Given the description of an element on the screen output the (x, y) to click on. 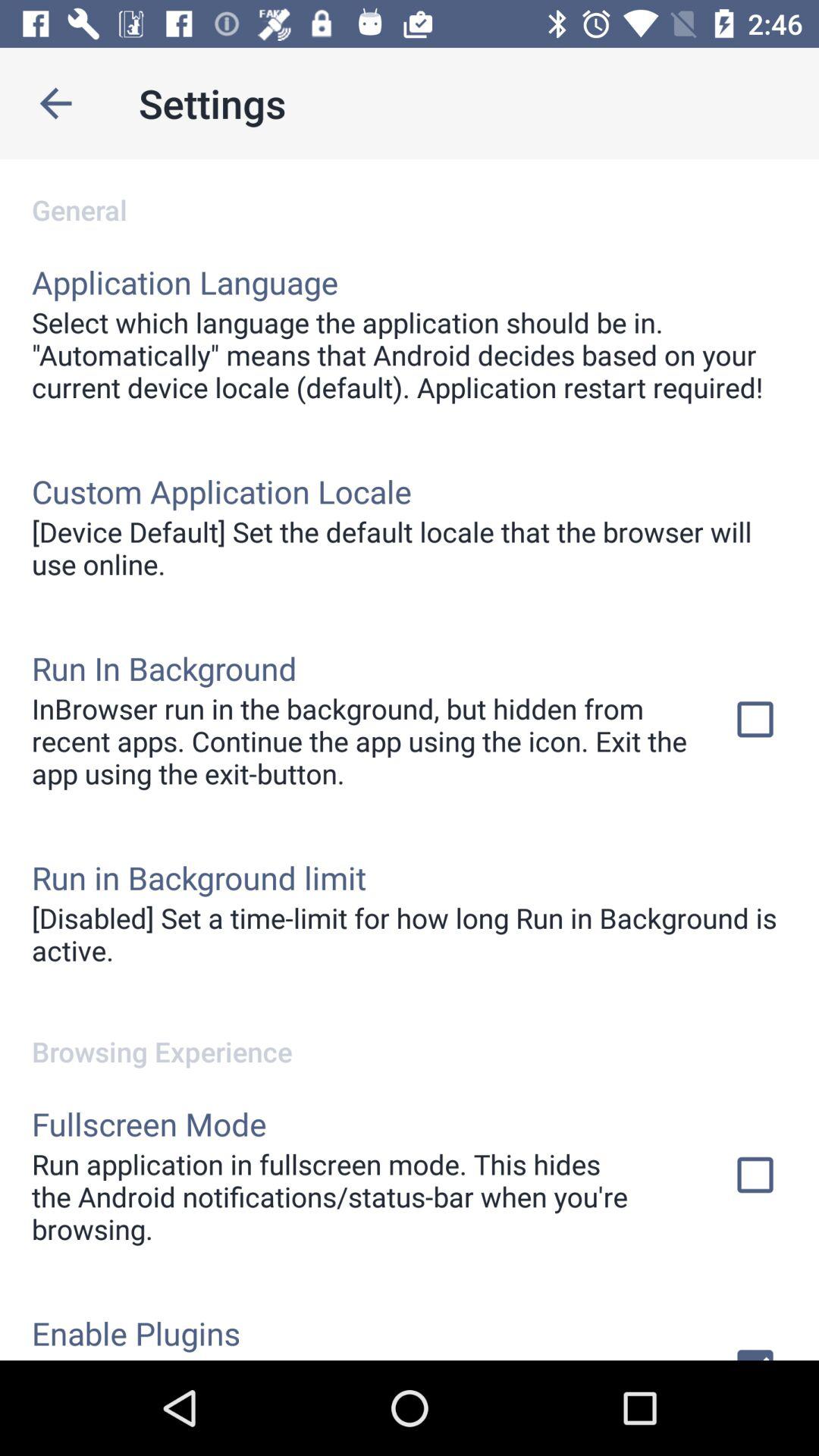
click the icon below application language app (409, 354)
